Given the description of an element on the screen output the (x, y) to click on. 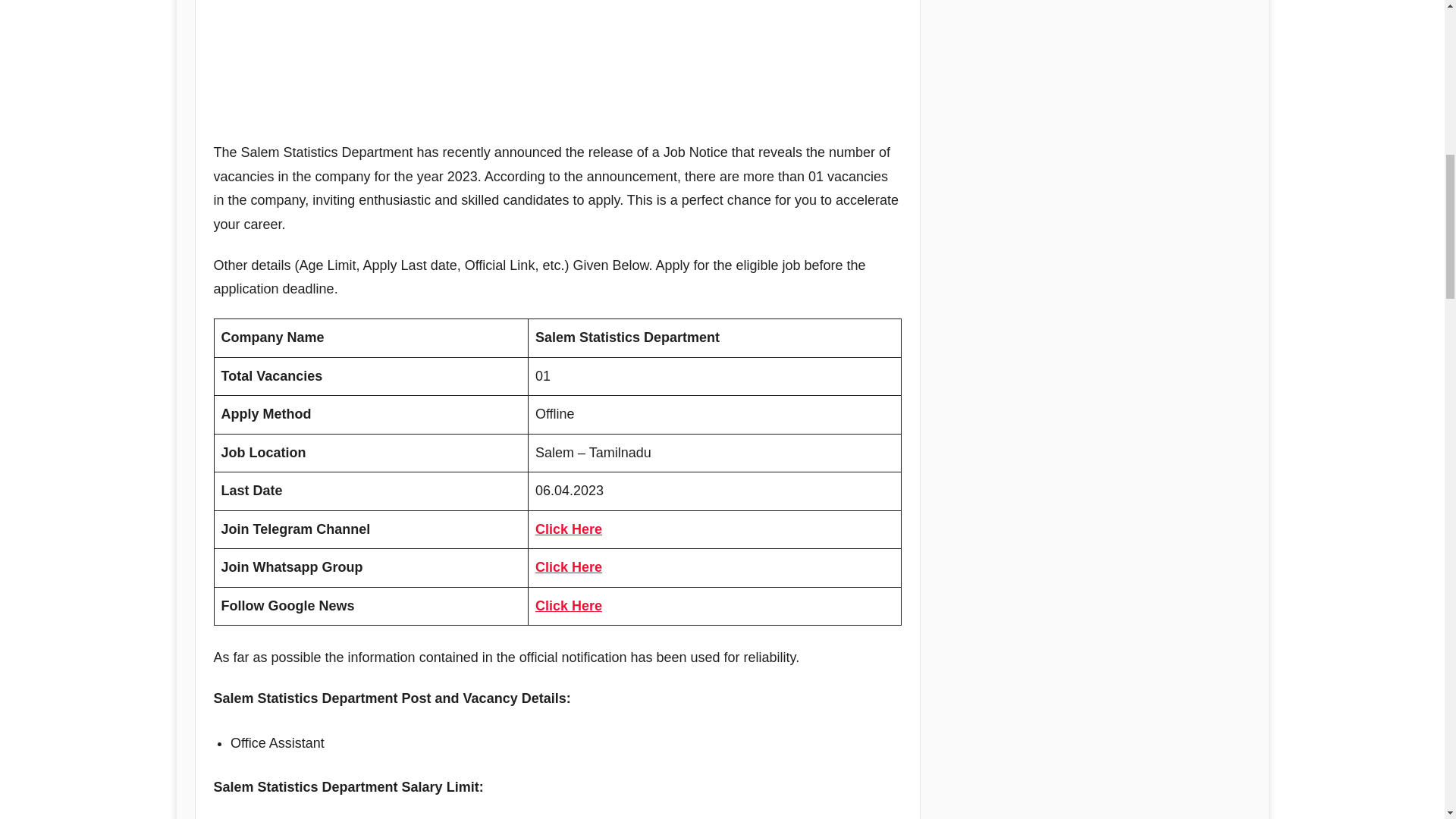
Click Here (568, 566)
Click Here (568, 605)
Click Here (568, 529)
